Given the description of an element on the screen output the (x, y) to click on. 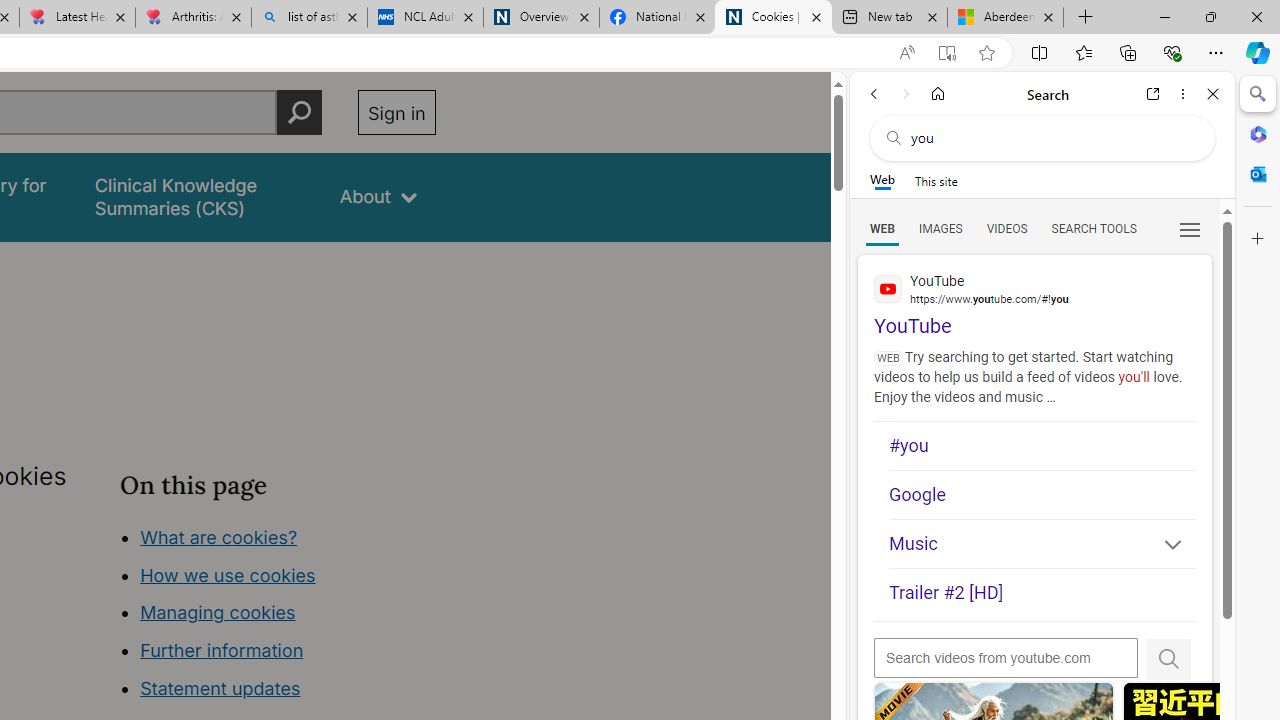
Close Outlook pane (1258, 174)
Home (938, 93)
Further information (221, 650)
How we use cookies (227, 574)
WEB   (882, 228)
YouTube (1034, 296)
Google (1042, 494)
SEARCH TOOLS (1093, 228)
